Given the description of an element on the screen output the (x, y) to click on. 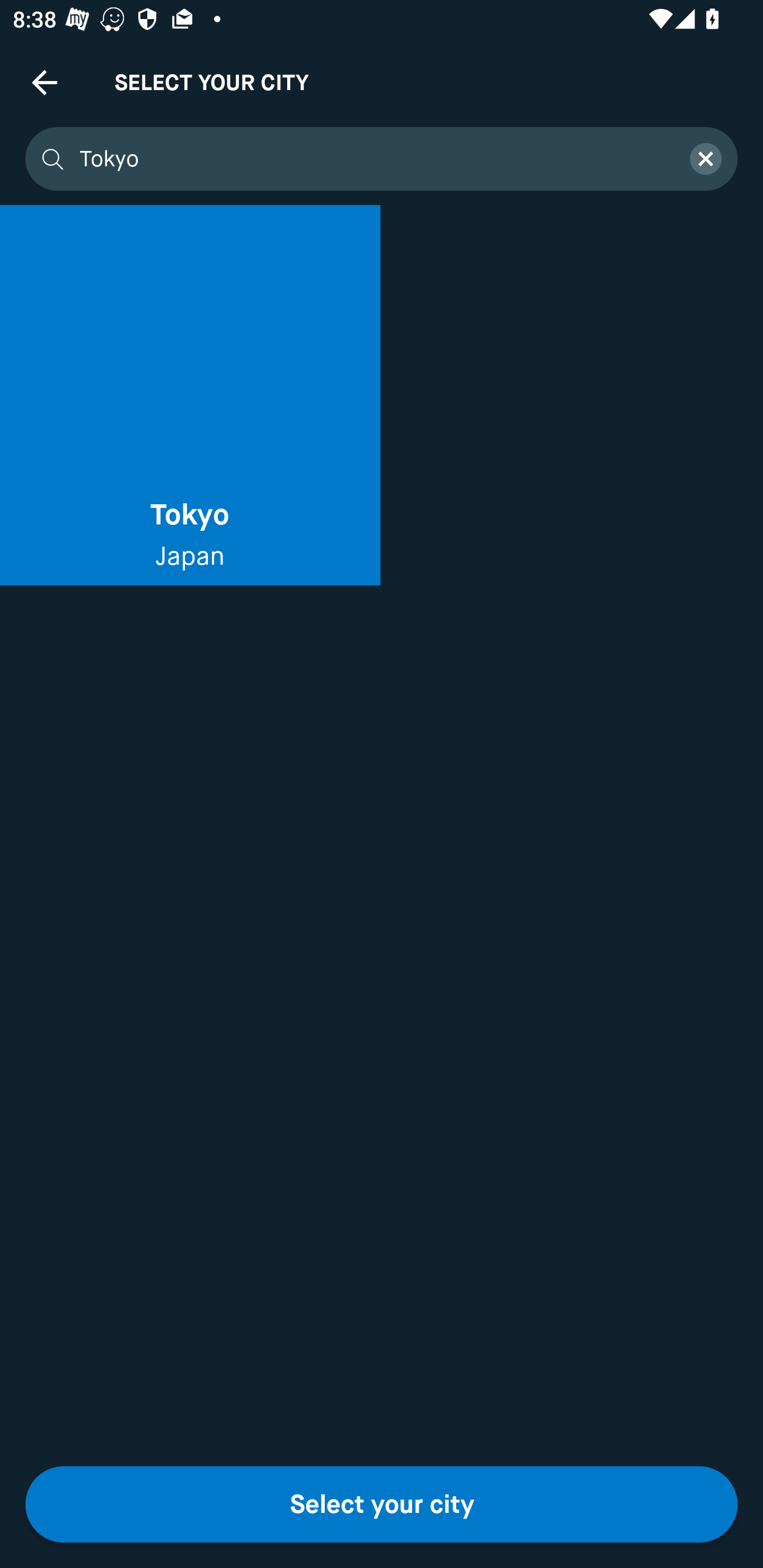
Navigate up (44, 82)
Tokyo (373, 159)
Tokyo Japan (190, 394)
Select your city (381, 1504)
